Given the description of an element on the screen output the (x, y) to click on. 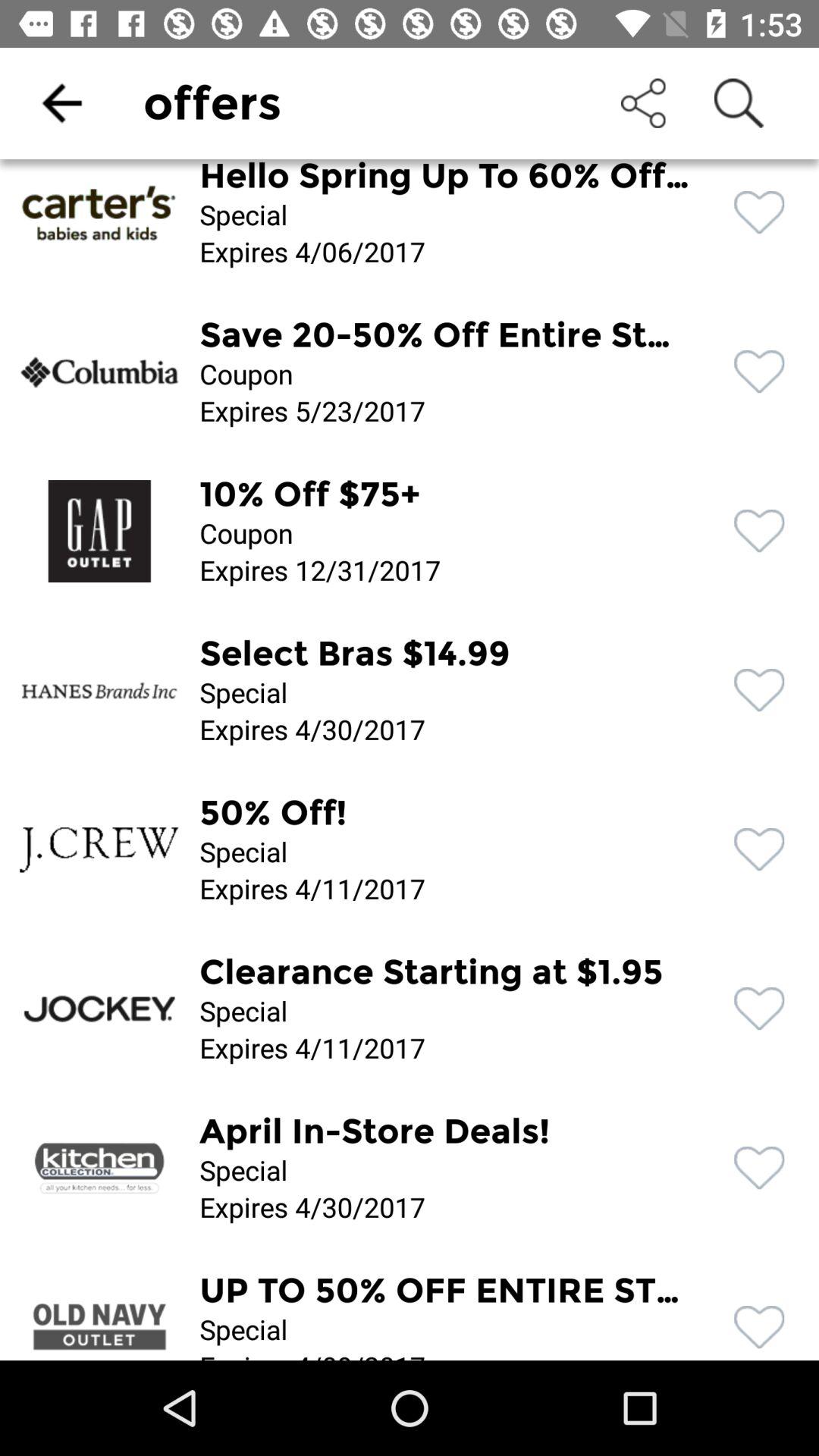
launch the icon to the left of offers icon (61, 103)
